Given the description of an element on the screen output the (x, y) to click on. 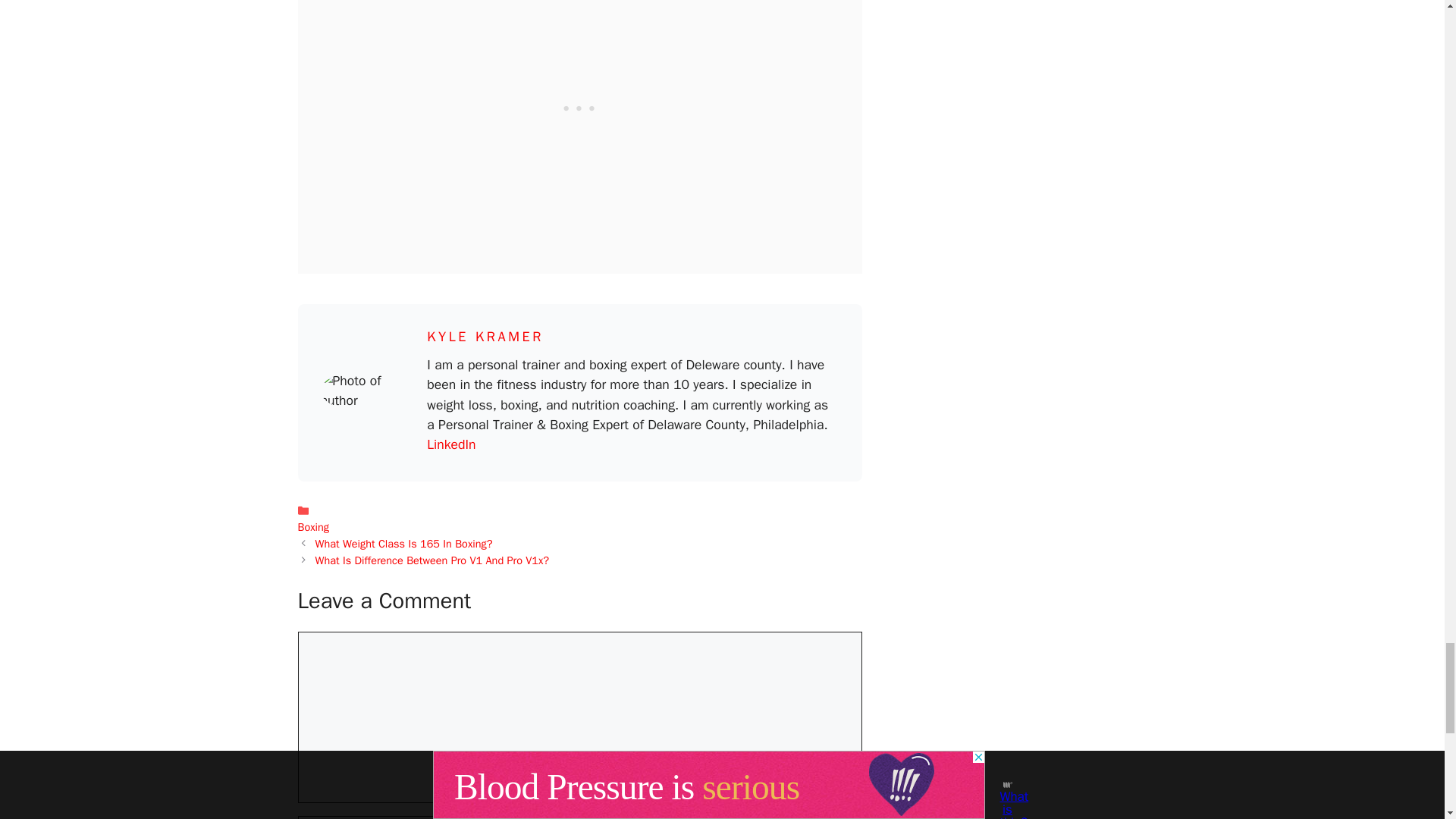
KYLE KRAMER (484, 336)
Categories (579, 518)
What Is Difference Between Pro V1 And Pro V1x? (432, 560)
Boxing (313, 526)
What Weight Class Is 165 In Boxing? (404, 543)
LinkedIn (451, 443)
